Given the description of an element on the screen output the (x, y) to click on. 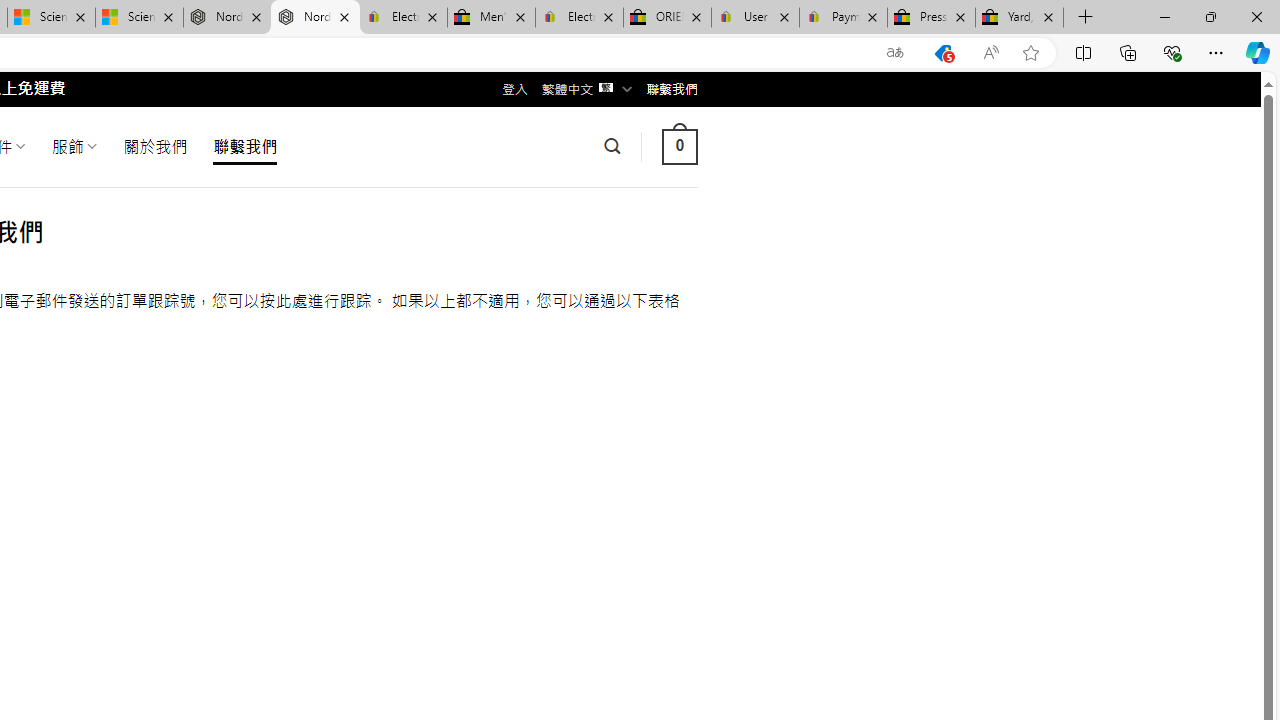
This site has coupons! Shopping in Microsoft Edge, 5 (943, 53)
Nordace - Summer Adventures 2024 (227, 17)
 0  (679, 146)
